Given the description of an element on the screen output the (x, y) to click on. 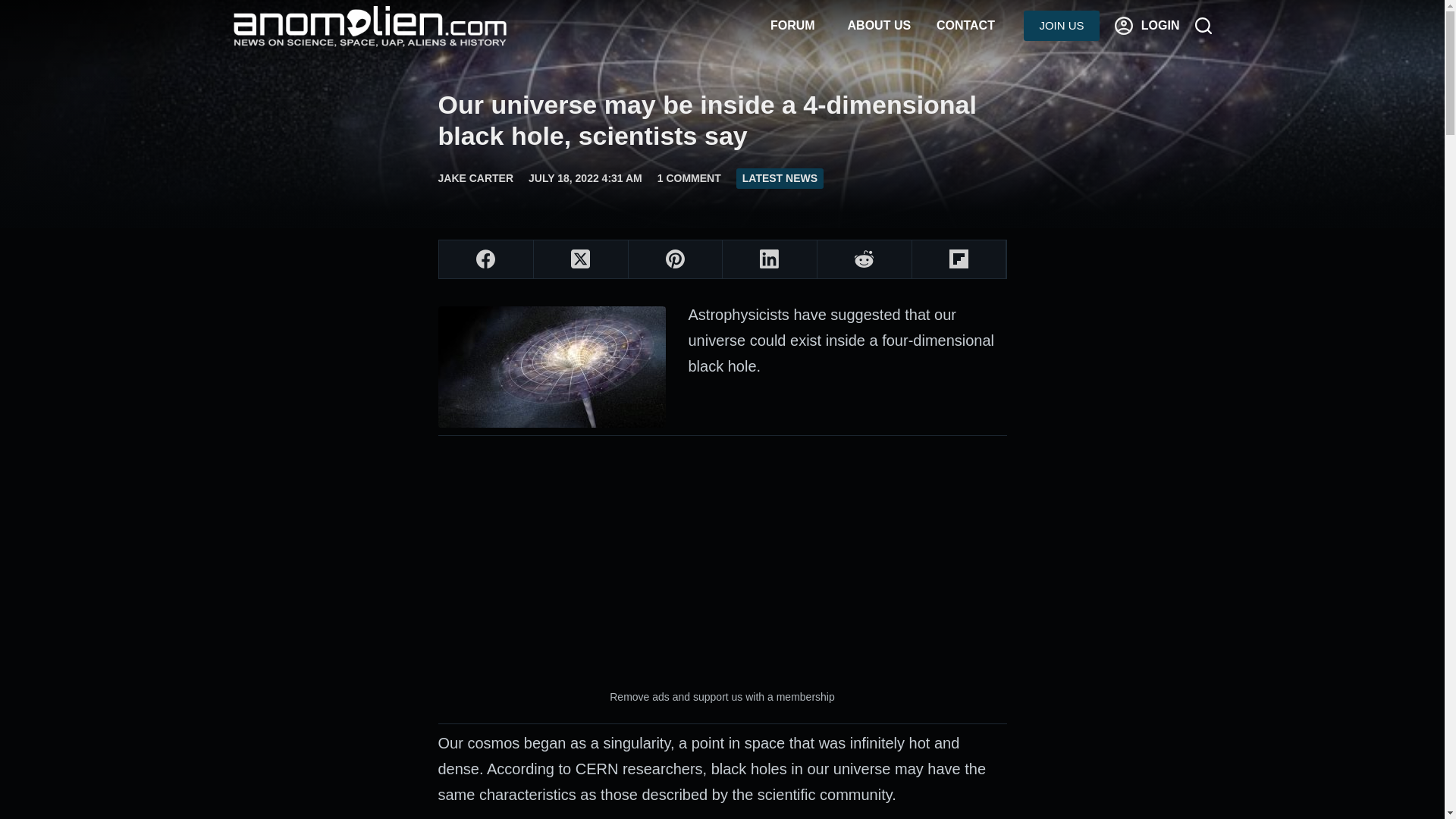
Skip to content (15, 7)
Posts by Jake Carter (475, 177)
Discussion Forum (792, 25)
